Given the description of an element on the screen output the (x, y) to click on. 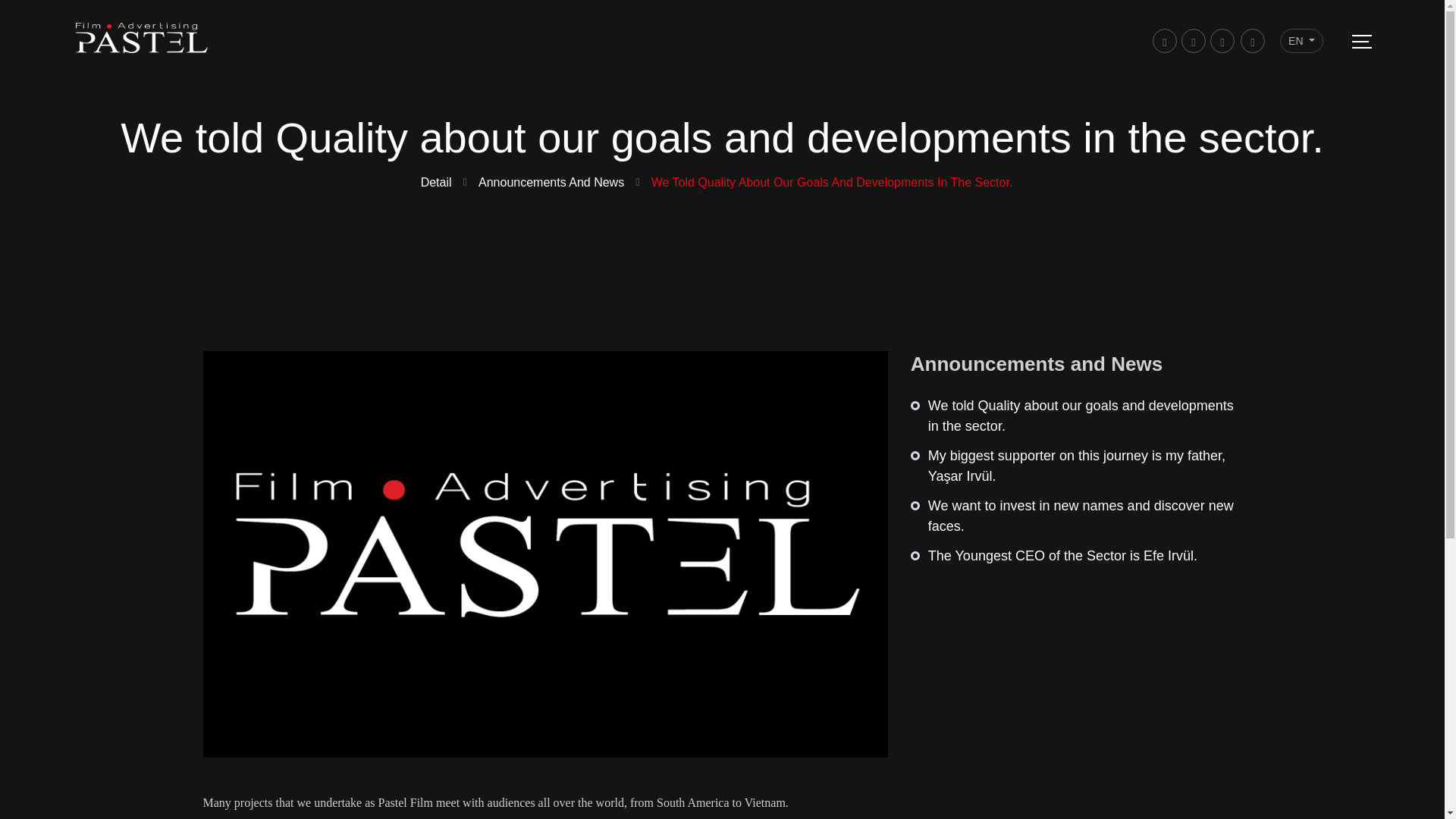
EN (1301, 40)
Announcements And News (551, 182)
We want to invest in new names and discover new faces. (1076, 516)
Facebook (1164, 40)
Detail (435, 182)
Youtube (1252, 40)
Twitter (1221, 40)
